Given the description of an element on the screen output the (x, y) to click on. 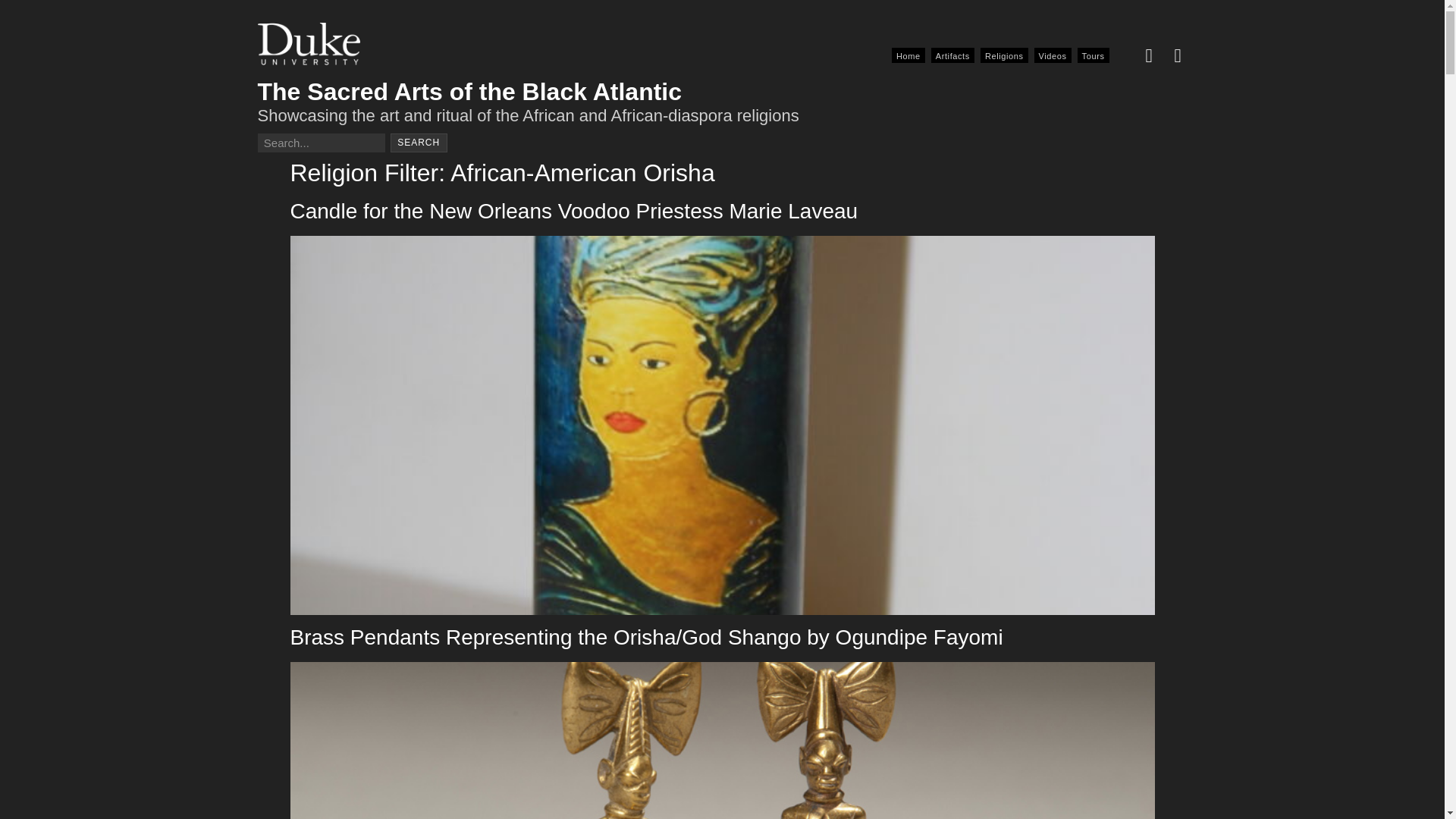
Candle for the New Orleans Voodoo Priestess Marie Laveau (573, 210)
Religions (1003, 55)
The Sacred Arts of the Black Atlantic (469, 91)
Artifacts (952, 55)
Tours (1093, 55)
Videos (1052, 55)
SEARCH (418, 142)
Home (907, 55)
